Given the description of an element on the screen output the (x, y) to click on. 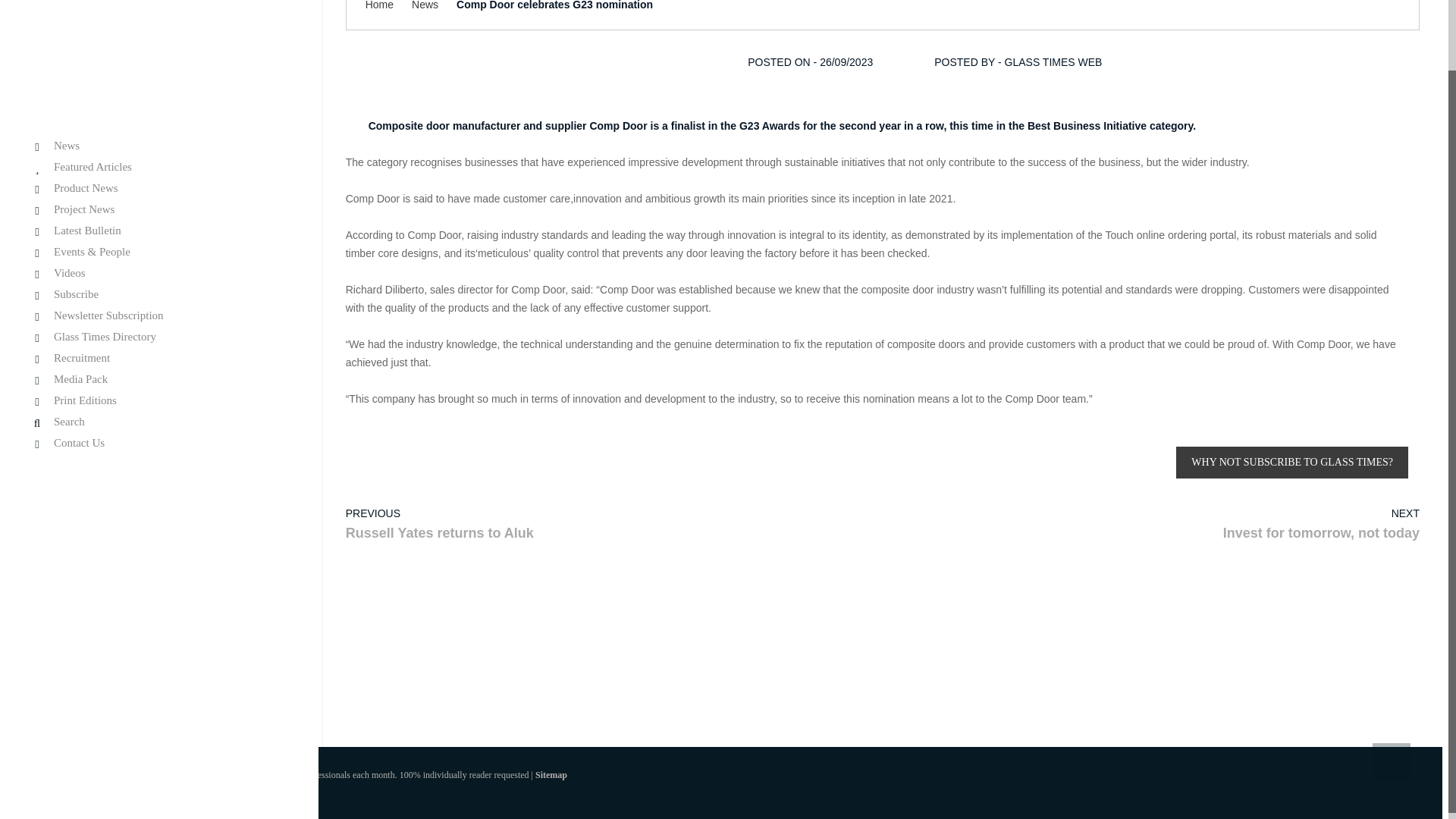
Glass Times Directory (159, 258)
Featured Articles (159, 88)
Media Pack (159, 300)
Print Editions (159, 322)
Search (159, 343)
Videos (159, 195)
Product News (159, 110)
Subscribe (159, 215)
Contact Us (159, 364)
Latest Bulletin (159, 152)
